Given the description of an element on the screen output the (x, y) to click on. 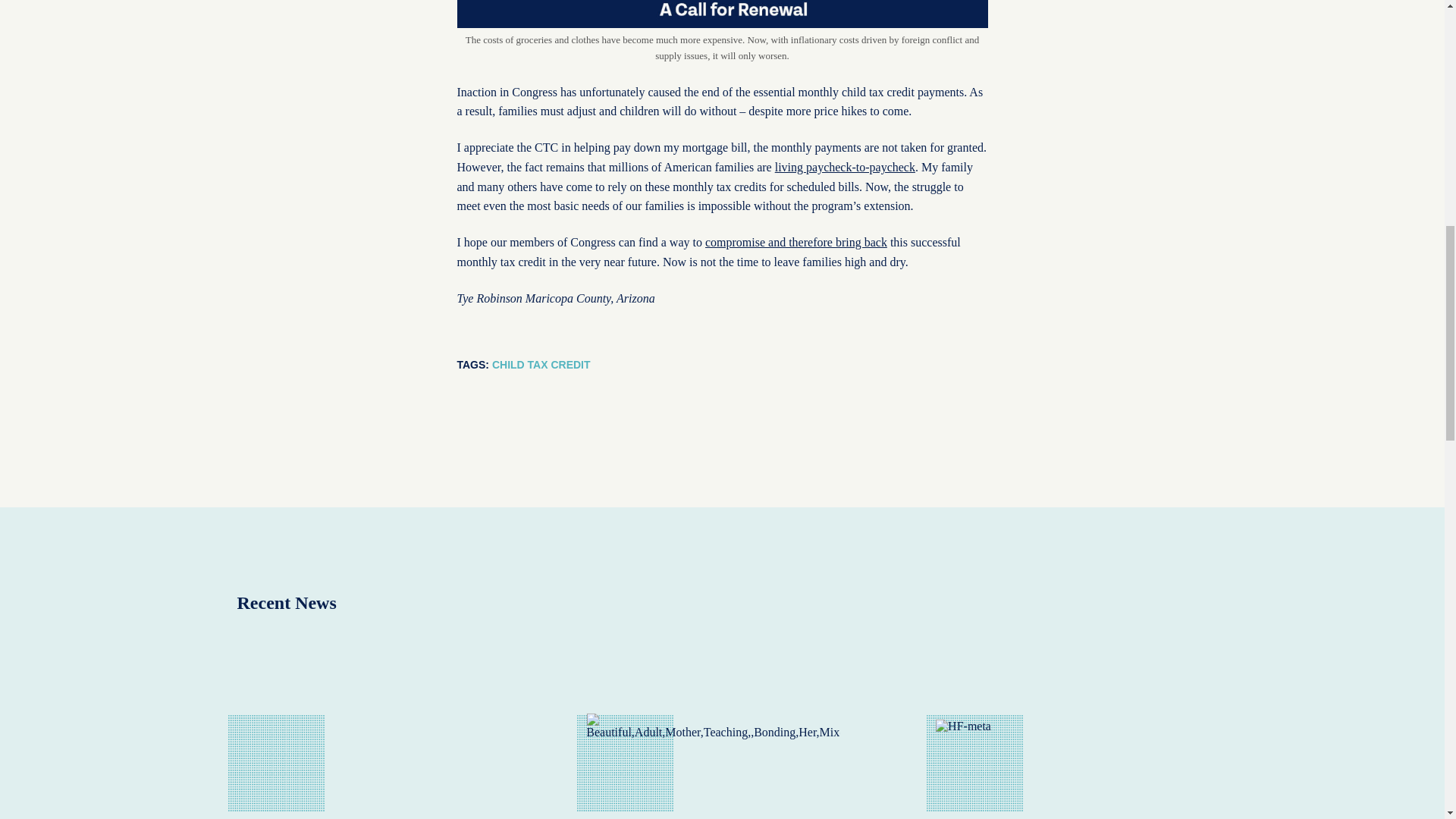
living paycheck-to-paycheck (844, 166)
CHILD TAX CREDIT (541, 364)
House Passes Bipartisan Tax Deal to Extend Child Tax Credit (371, 734)
compromise and therefore bring back (795, 241)
